Given the description of an element on the screen output the (x, y) to click on. 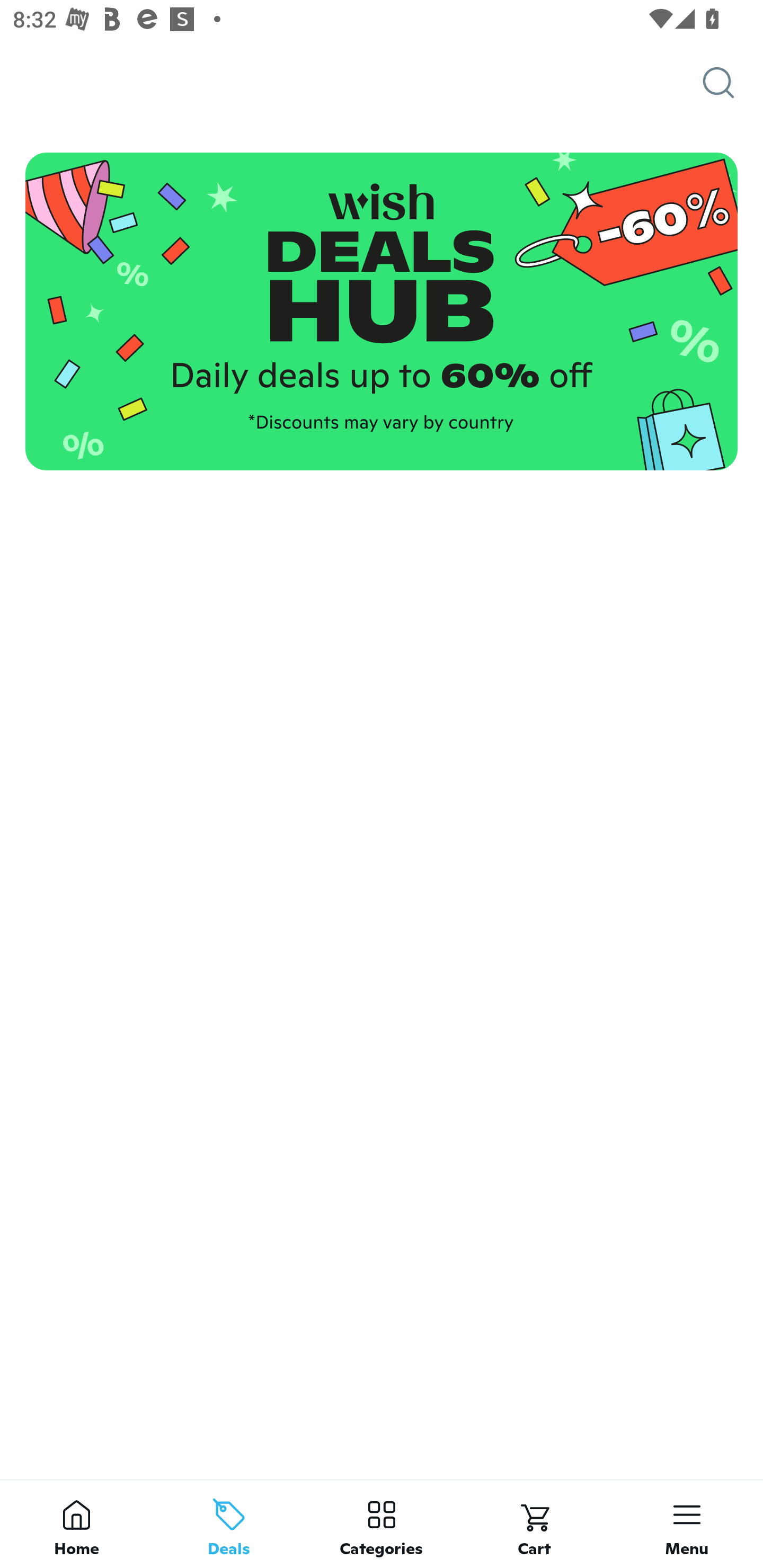
Search (732, 82)
Home (76, 1523)
Deals (228, 1523)
Categories (381, 1523)
Cart (533, 1523)
Menu (686, 1523)
